Given the description of an element on the screen output the (x, y) to click on. 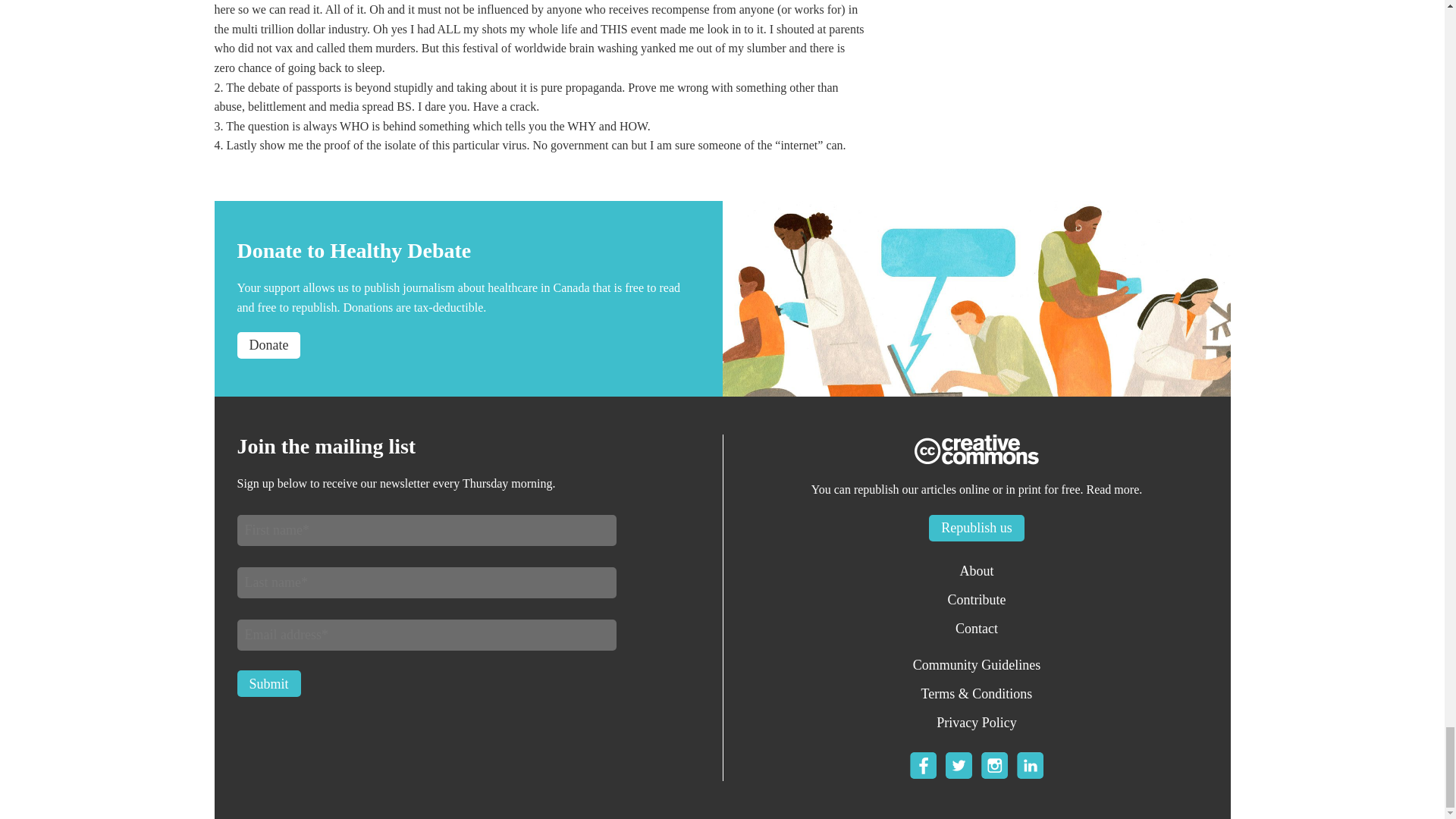
Submit (267, 683)
